Given the description of an element on the screen output the (x, y) to click on. 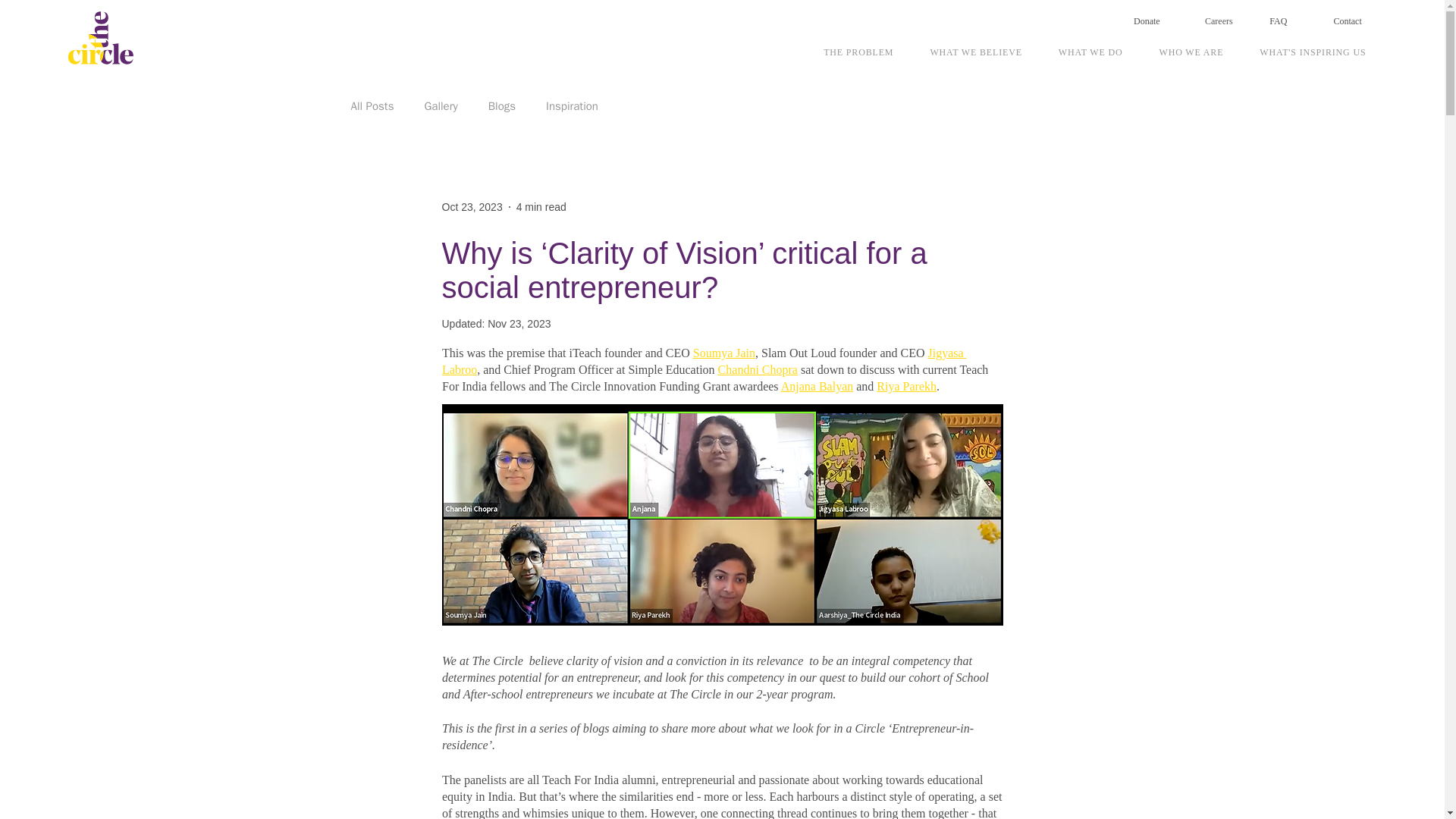
Blogs (501, 105)
4 min read (541, 205)
Jigyasa Labroo (703, 360)
THE PROBLEM (858, 52)
Riya Parekh (906, 386)
FAQ (1278, 20)
Nov 23, 2023 (518, 323)
WHAT WE BELIEVE (975, 52)
Careers (1219, 20)
Contact (1347, 20)
Chandni Chopra (756, 369)
Oct 23, 2023 (471, 205)
Gallery (440, 105)
Inspiration (572, 105)
WHAT'S INSPIRING US (1312, 52)
